Given the description of an element on the screen output the (x, y) to click on. 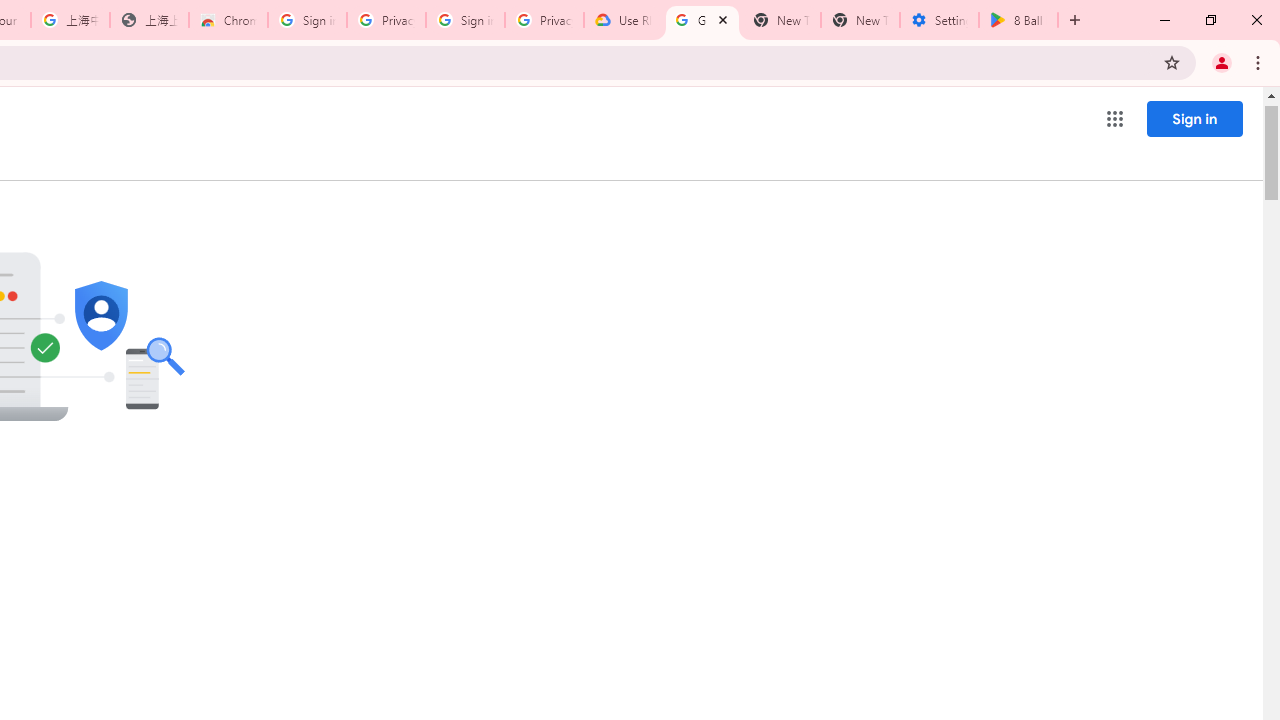
New Tab (859, 20)
Settings - System (939, 20)
Chrome Web Store - Color themes by Chrome (228, 20)
Sign in - Google Accounts (306, 20)
Sign in - Google Accounts (465, 20)
8 Ball Pool - Apps on Google Play (1018, 20)
